Given the description of an element on the screen output the (x, y) to click on. 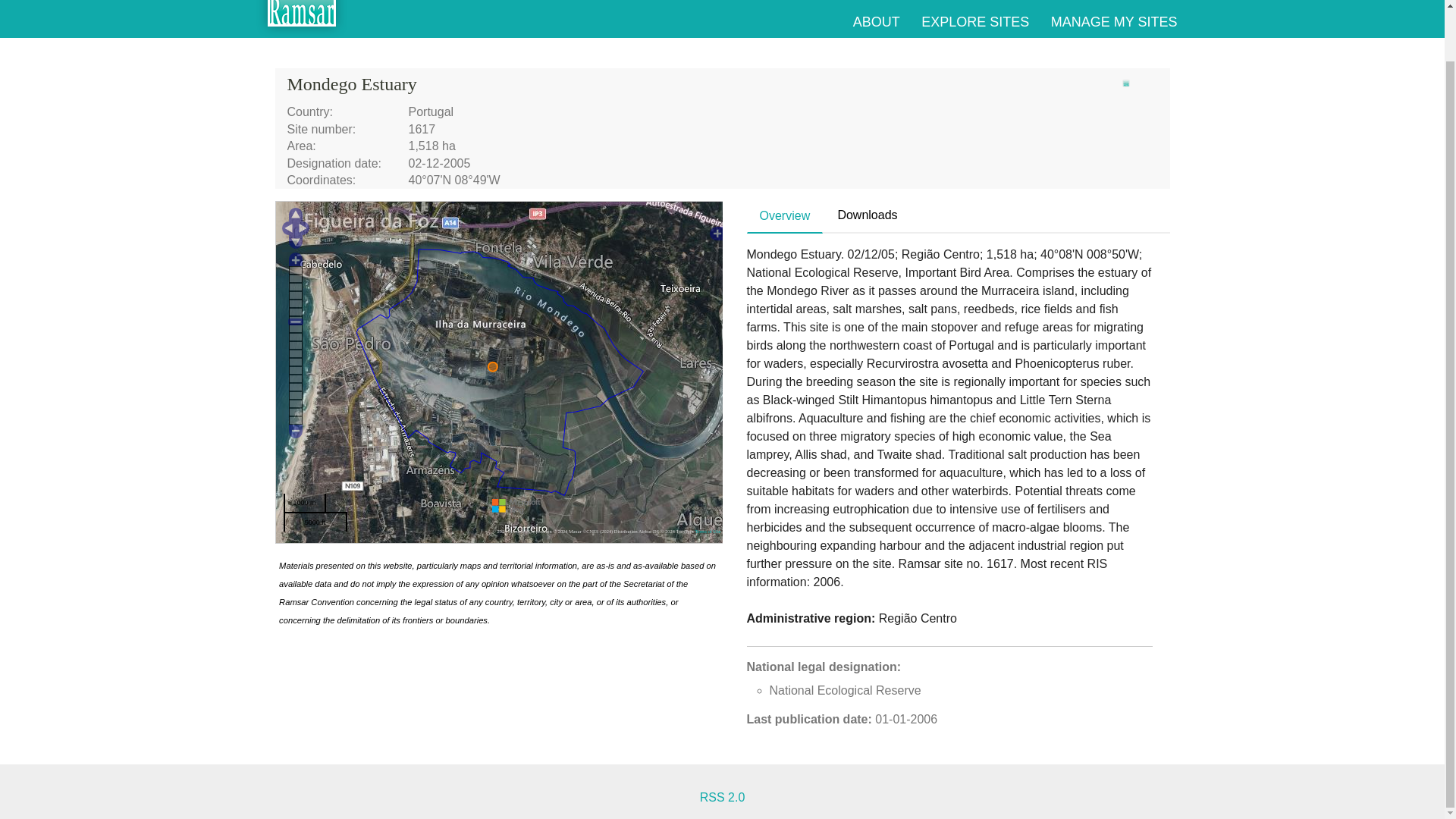
Home (301, 18)
MANAGE MY SITES (1114, 21)
ABOUT (876, 21)
Downloads (866, 215)
EXPLORE SITES (975, 21)
Terms of Use (707, 530)
Ramsar logo (1125, 82)
Overview (785, 216)
RSS 2.0 (722, 797)
